Given the description of an element on the screen output the (x, y) to click on. 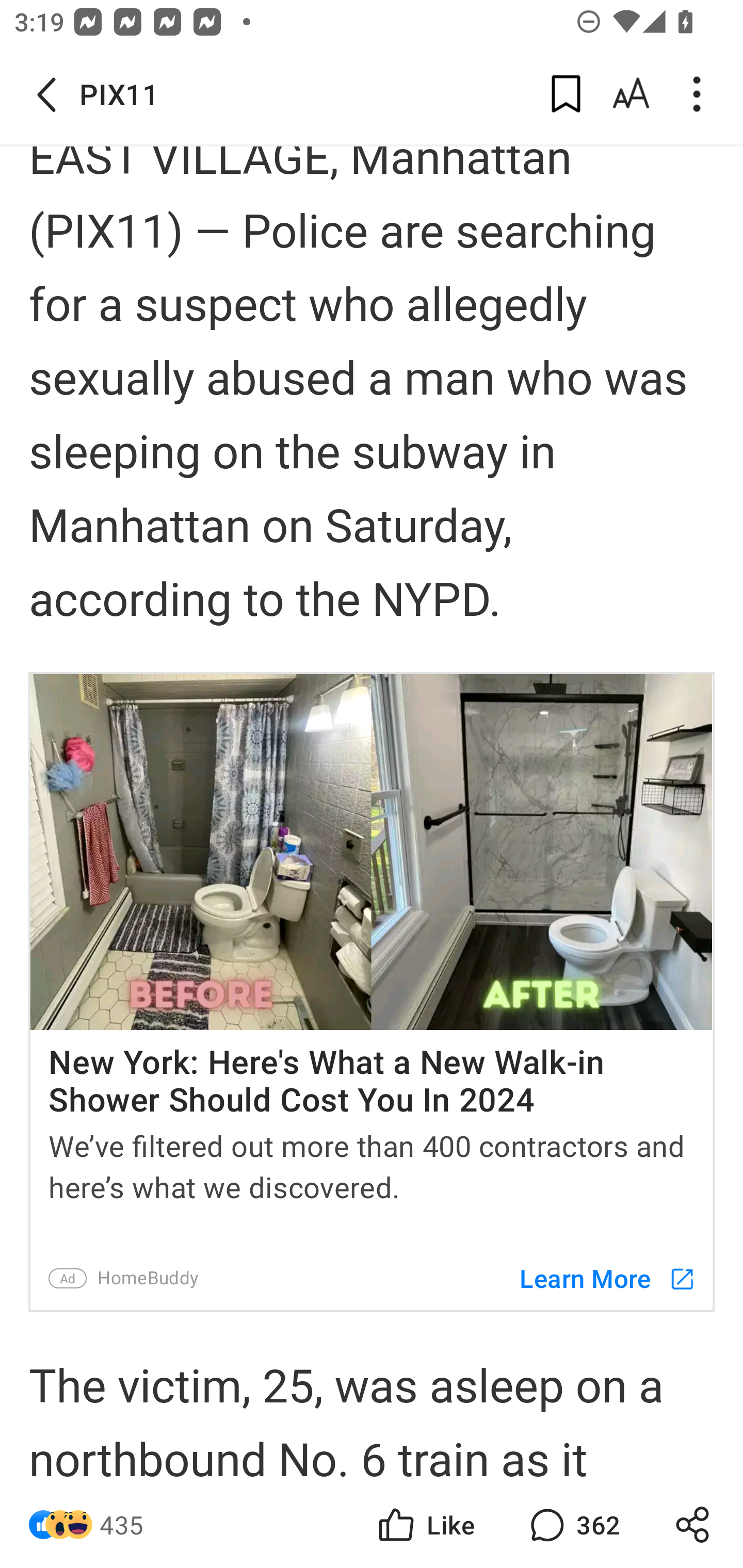
Learn More (597, 1278)
HomeBuddy (148, 1278)
435 (121, 1524)
Like (425, 1524)
362 (572, 1524)
